Given the description of an element on the screen output the (x, y) to click on. 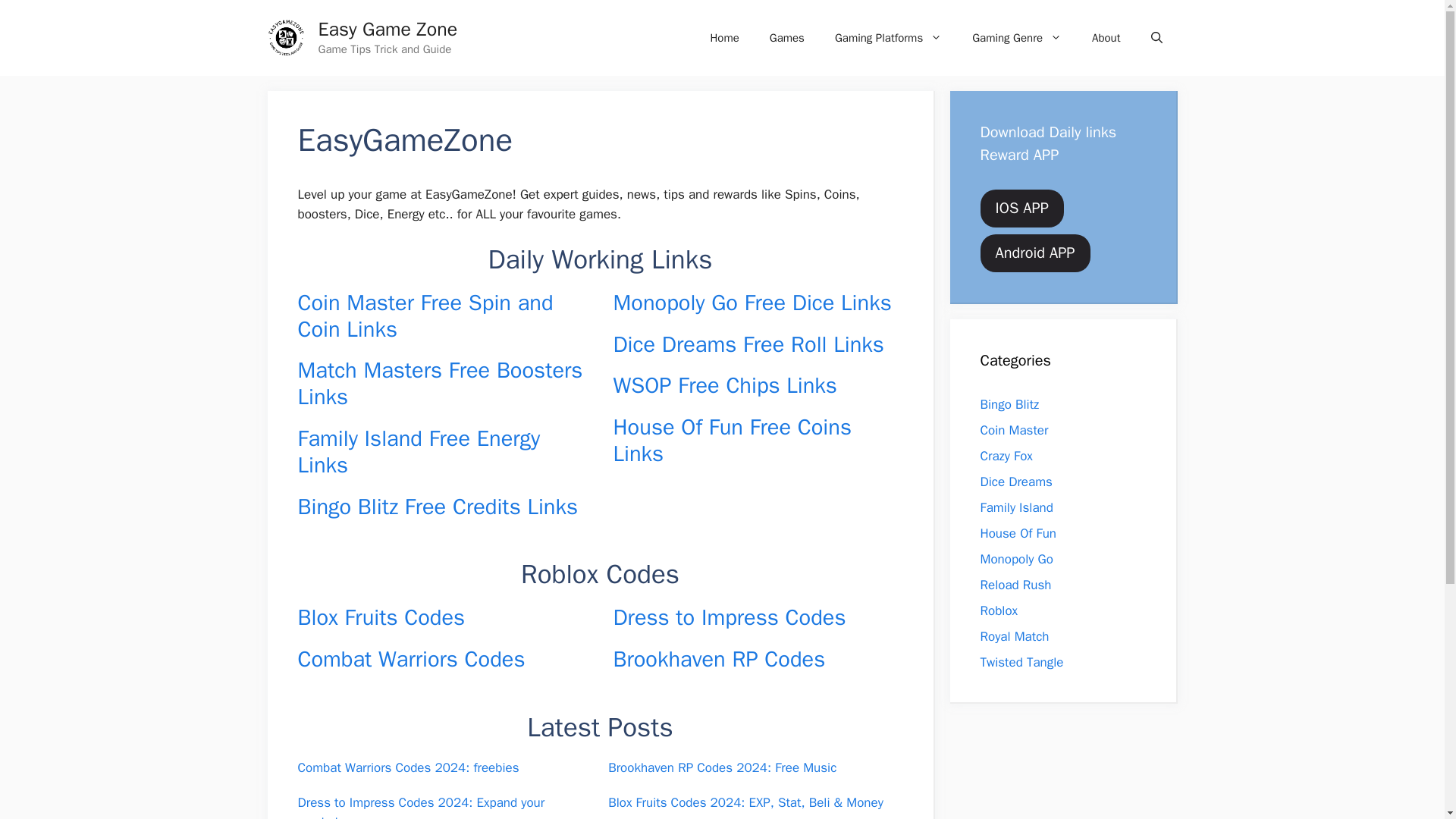
Gaming Platforms (887, 37)
Home (724, 37)
About (1106, 37)
Games (786, 37)
Gaming Genre (1016, 37)
Easy Game Zone (388, 28)
